Given the description of an element on the screen output the (x, y) to click on. 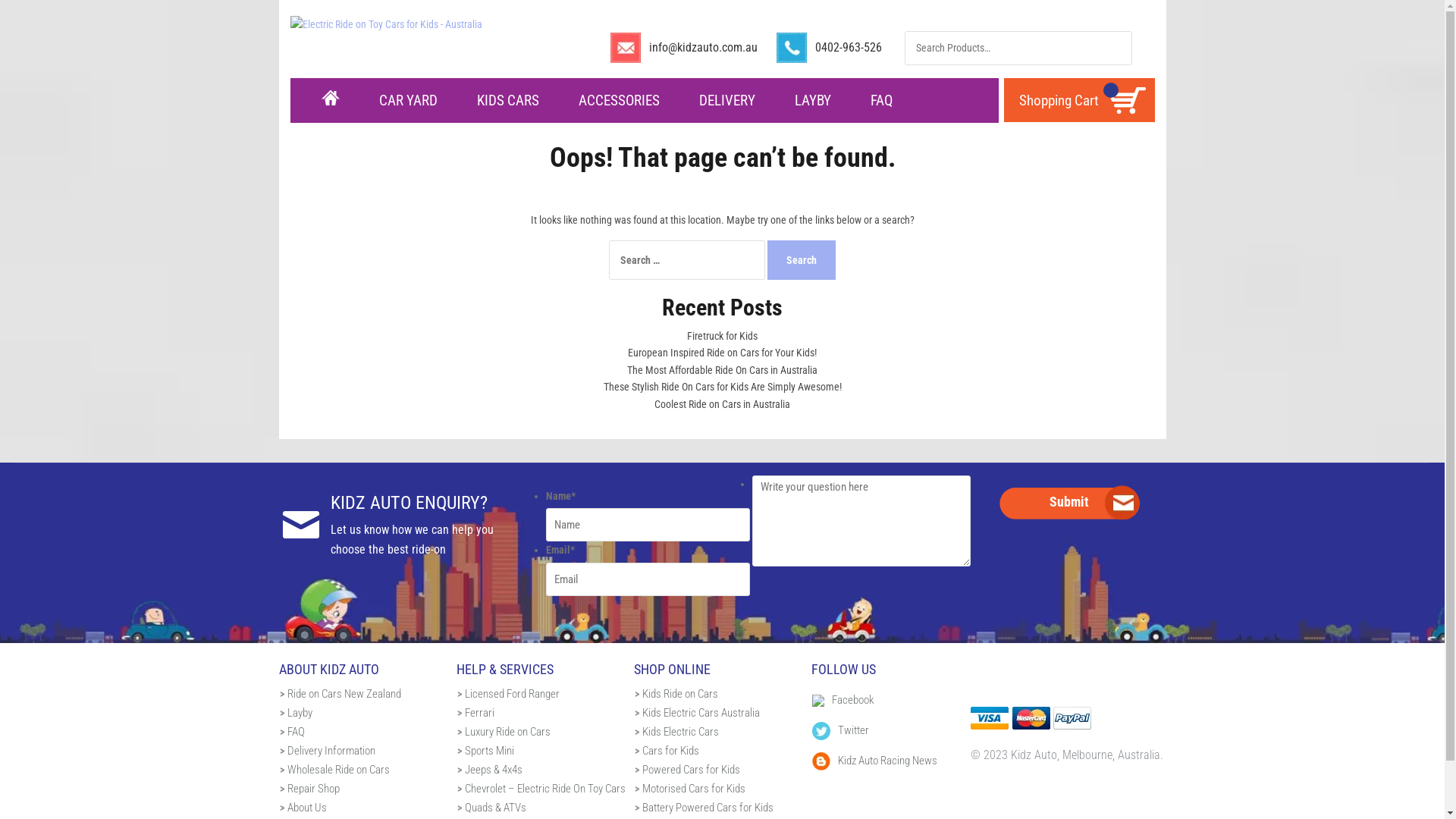
KIDS CARS Element type: text (507, 100)
FAQ Element type: text (881, 100)
Kids Electric Cars Australia Element type: text (700, 712)
Search for: Element type: hover (1017, 47)
Cars for Kids Element type: text (669, 750)
Powered Cars for Kids Element type: text (690, 769)
Ferrari Element type: text (478, 712)
Search Element type: text (1116, 49)
Kids Ride on Cars Element type: text (679, 693)
0402-963-526 Element type: text (847, 47)
info@kidzauto.com.au Element type: text (703, 47)
Licensed Ford Ranger Element type: text (511, 693)
' . __( 'View your shopping cart', 'theshop' ) . ' Element type: hover (1126, 100)
These Stylish Ride On Cars for Kids Are Simply Awesome! Element type: text (722, 386)
Motorised Cars for Kids Element type: text (692, 788)
Firetruck for Kids Element type: text (722, 335)
European Inspired Ride on Cars for Your Kids! Element type: text (721, 352)
About Us Element type: text (306, 807)
Battery Powered Cars for Kids Element type: text (706, 807)
Shopping Cart Element type: text (1058, 100)
Repair Shop Element type: text (312, 788)
Jeeps & 4x4s Element type: text (492, 769)
Electric Ride on Toy Cars for Kids - Australia Element type: hover (385, 23)
The Most Affordable Ride On Cars in Australia Element type: text (722, 370)
Luxury Ride on Cars Element type: text (506, 731)
Wholesale Ride on Cars Element type: text (337, 769)
Submit Element type: text (1069, 502)
Layby Element type: text (298, 712)
FAQ Element type: text (295, 731)
Search Element type: text (801, 259)
Kidz Auto Racing News Element type: text (873, 760)
Quads & ATVs Element type: text (494, 807)
ACCESSORIES Element type: text (618, 100)
Ride on Cars New Zealand Element type: text (343, 693)
Twitter Element type: text (839, 730)
Sports Mini Element type: text (488, 750)
DELIVERY Element type: text (727, 100)
Delivery Information Element type: text (330, 750)
LAYBY Element type: text (812, 100)
Coolest Ride on Cars in Australia Element type: text (722, 404)
Facebook Element type: text (842, 699)
Kids Electric Cars Element type: text (679, 731)
CAR YARD Element type: text (408, 100)
